Given the description of an element on the screen output the (x, y) to click on. 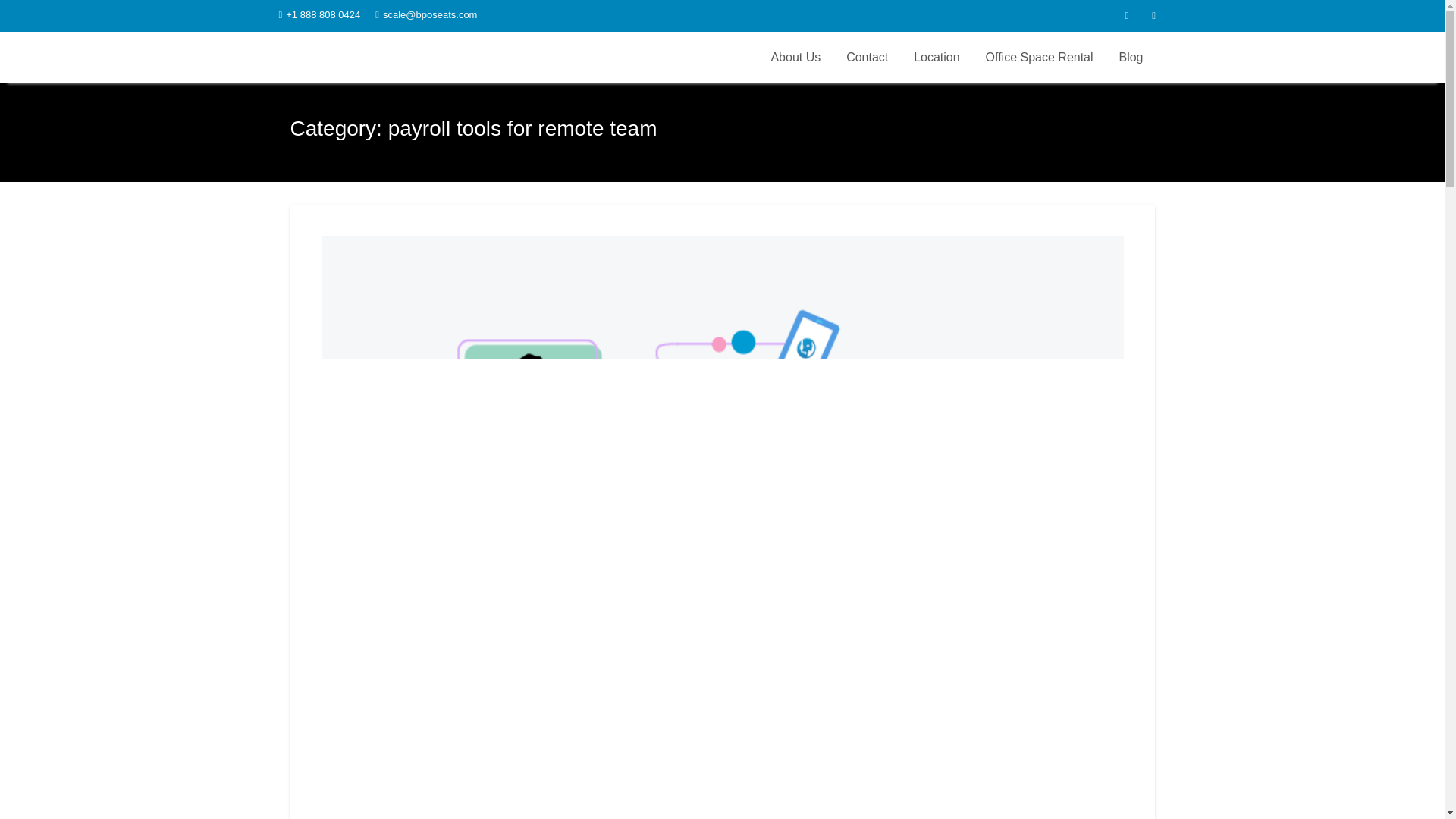
Facebook (1126, 15)
Location (936, 57)
Contact (866, 57)
Office Space Rental (1039, 57)
Youtube (1153, 15)
About Us (794, 57)
Blog (1130, 57)
